Given the description of an element on the screen output the (x, y) to click on. 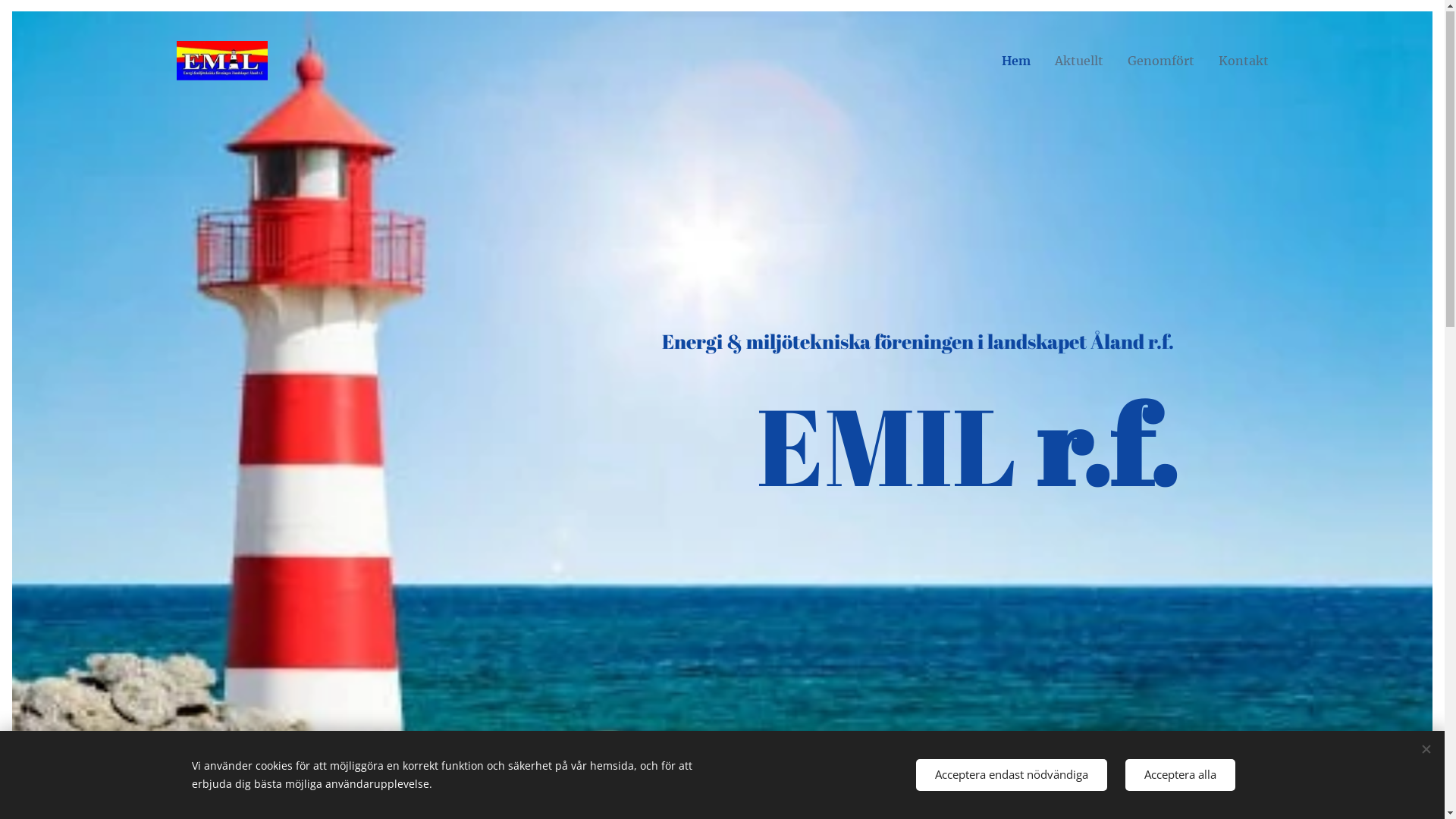
Hem Element type: text (1019, 61)
Acceptera alla Element type: text (1180, 774)
Kontakt Element type: text (1236, 61)
Aktuellt Element type: text (1077, 61)
